Given the description of an element on the screen output the (x, y) to click on. 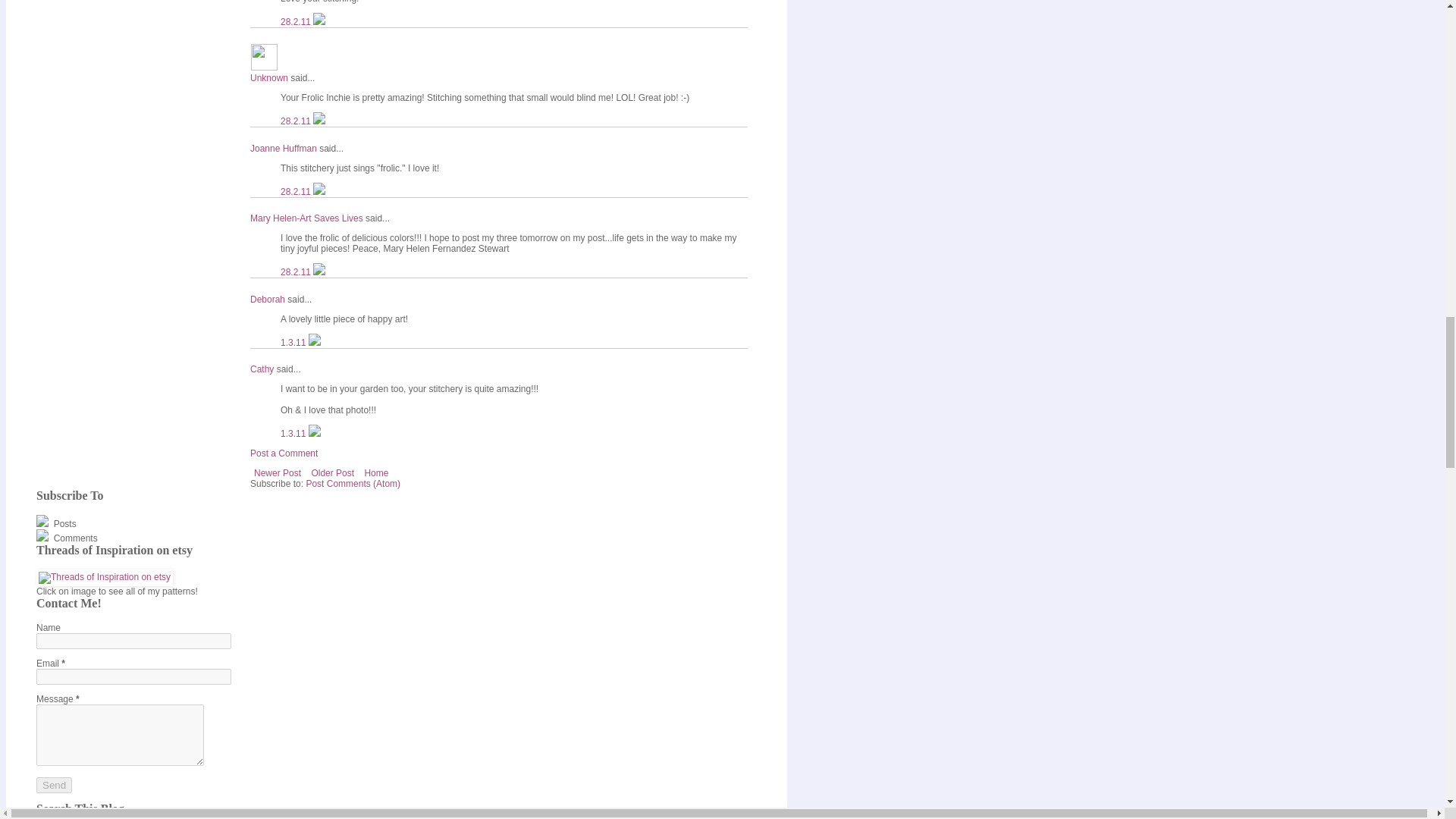
Send (53, 785)
